Given the description of an element on the screen output the (x, y) to click on. 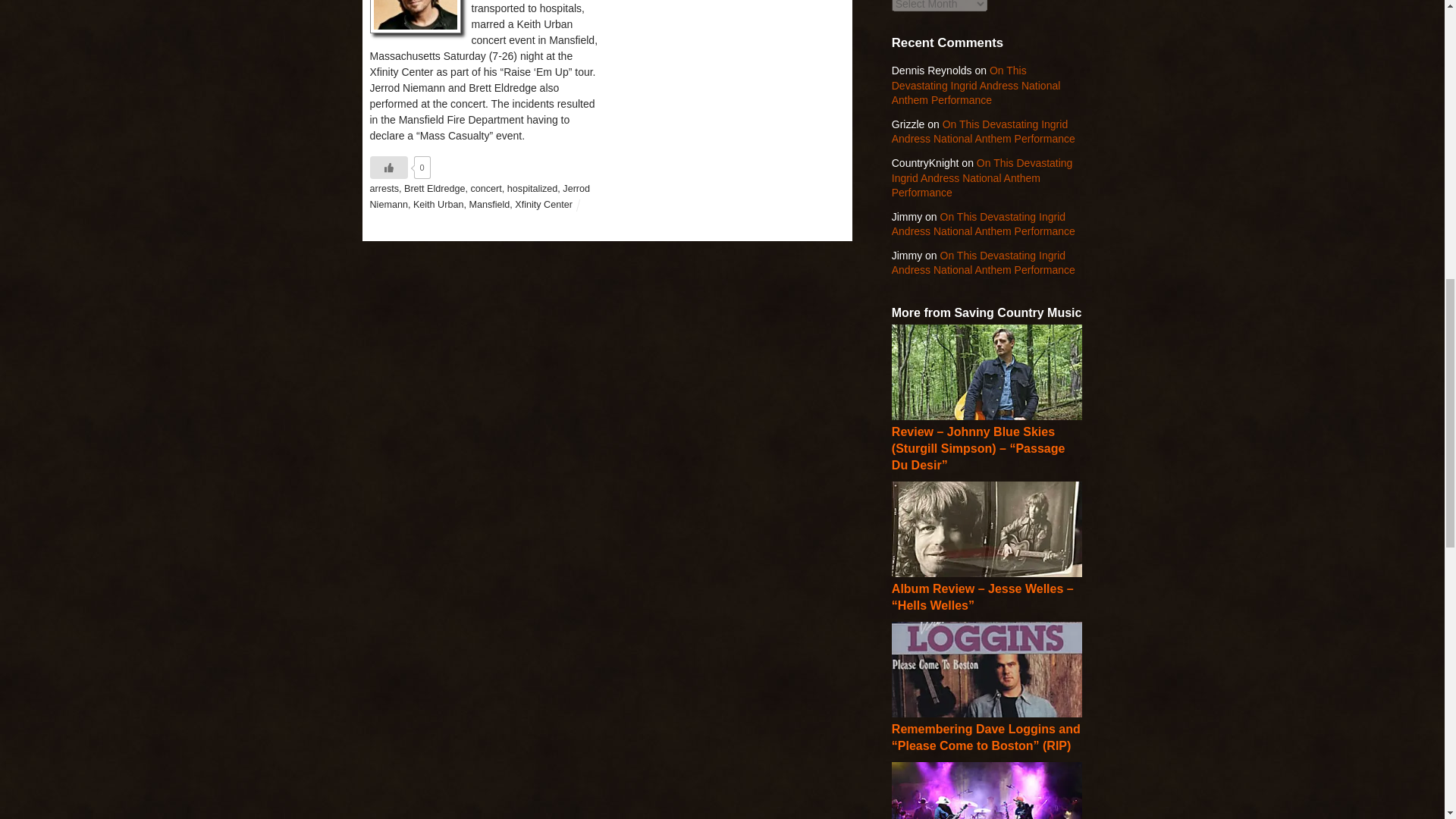
keith-urban (415, 17)
